Given the description of an element on the screen output the (x, y) to click on. 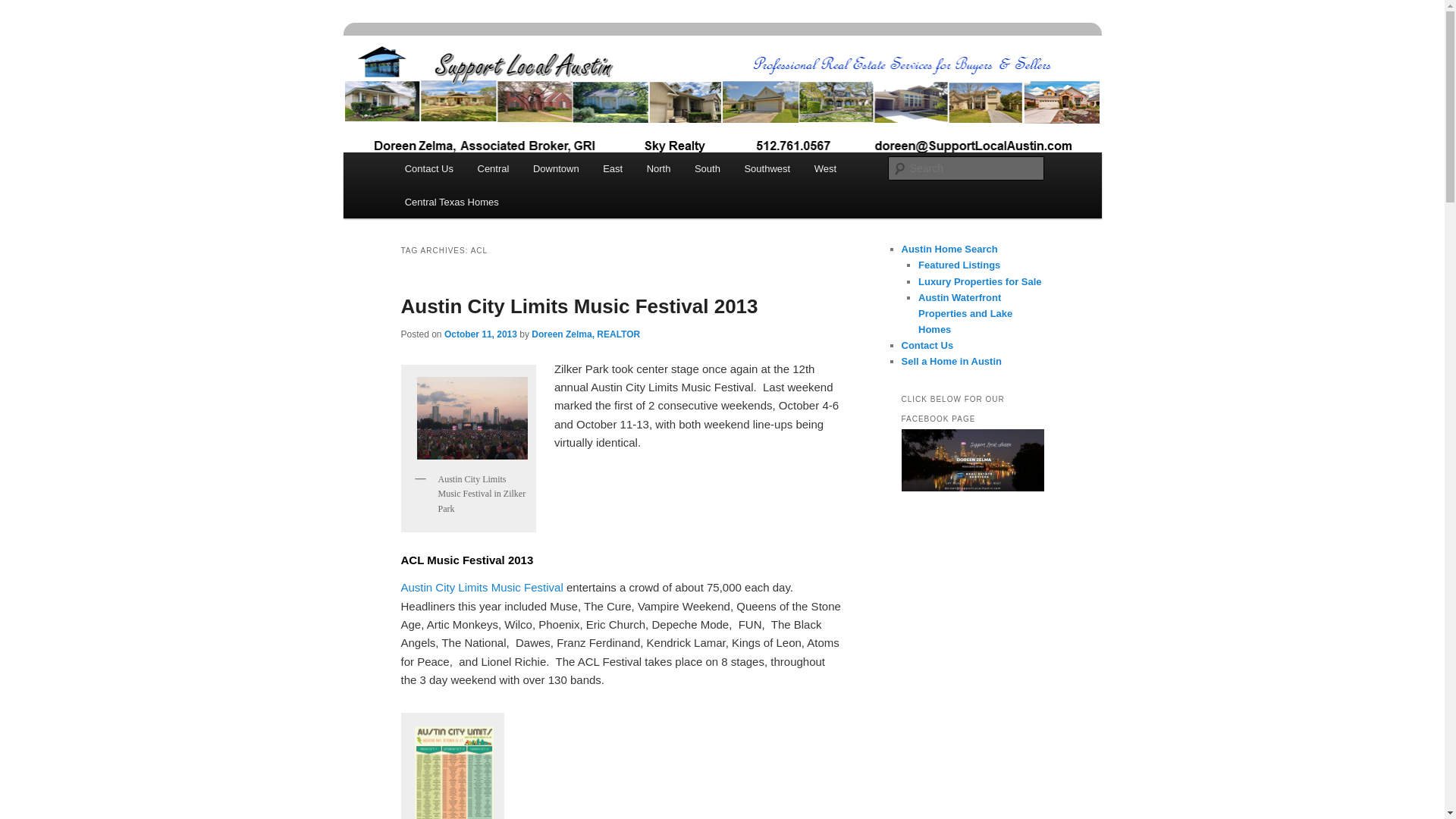
Search (24, 8)
Central (493, 168)
Contact Us (429, 168)
11:51 am (480, 334)
Support Local Austin (514, 90)
View all posts by Doreen Zelma, REALTOR (585, 334)
